Given the description of an element on the screen output the (x, y) to click on. 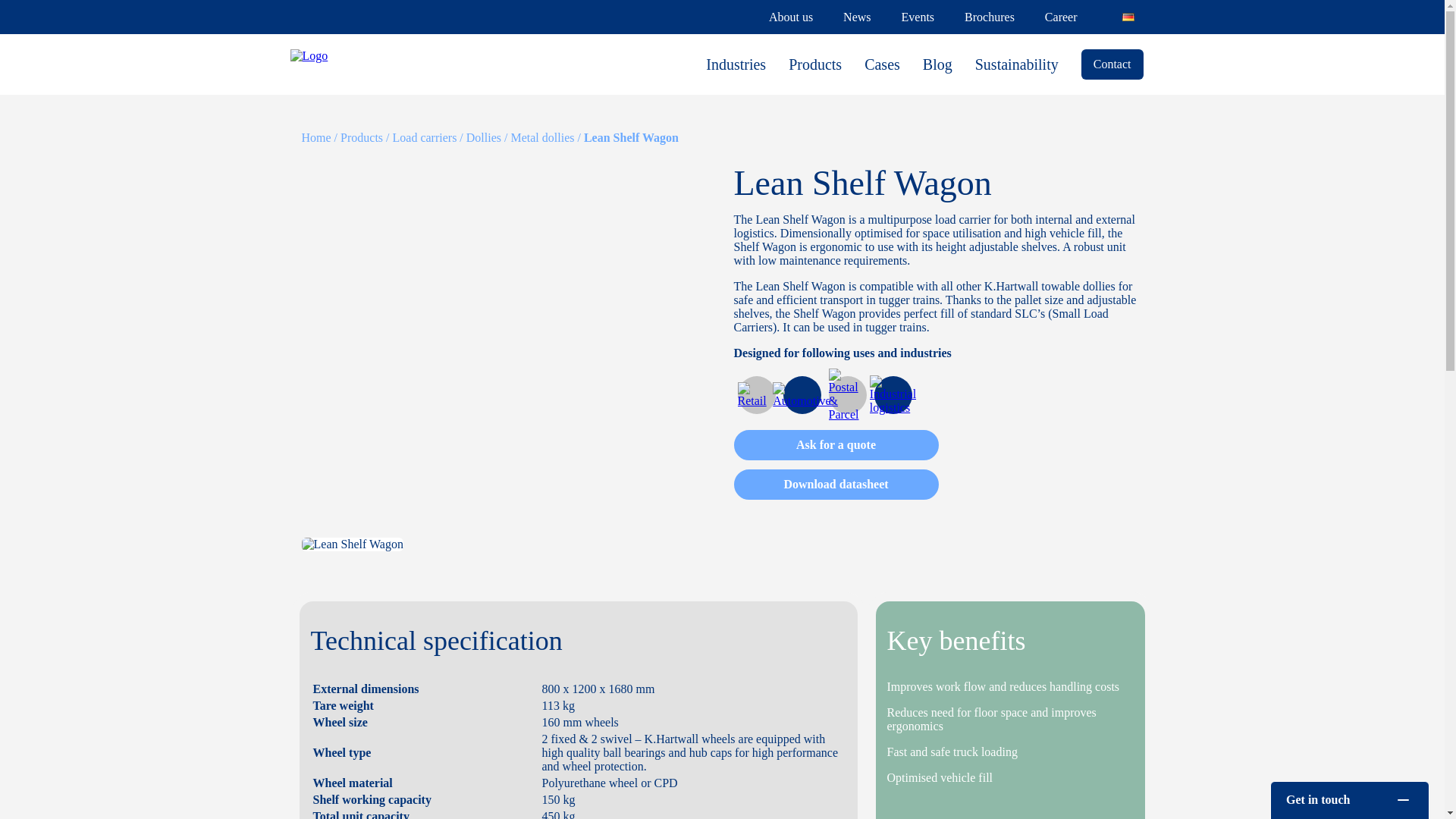
About us (790, 17)
Industries (735, 64)
Brochures (988, 17)
Career (1061, 17)
Events (917, 17)
Products (815, 64)
